Given the description of an element on the screen output the (x, y) to click on. 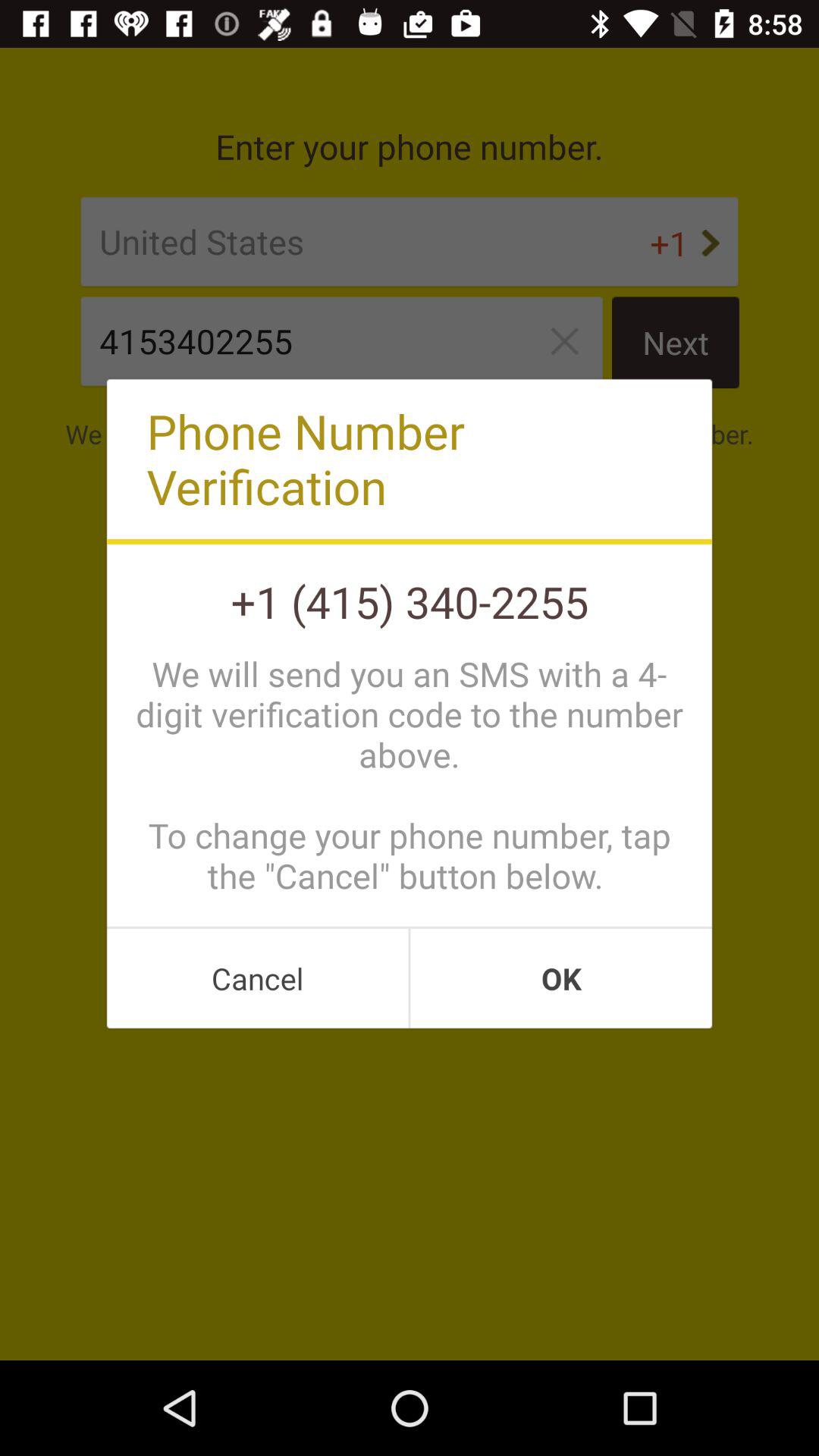
turn on ok button (561, 978)
